Given the description of an element on the screen output the (x, y) to click on. 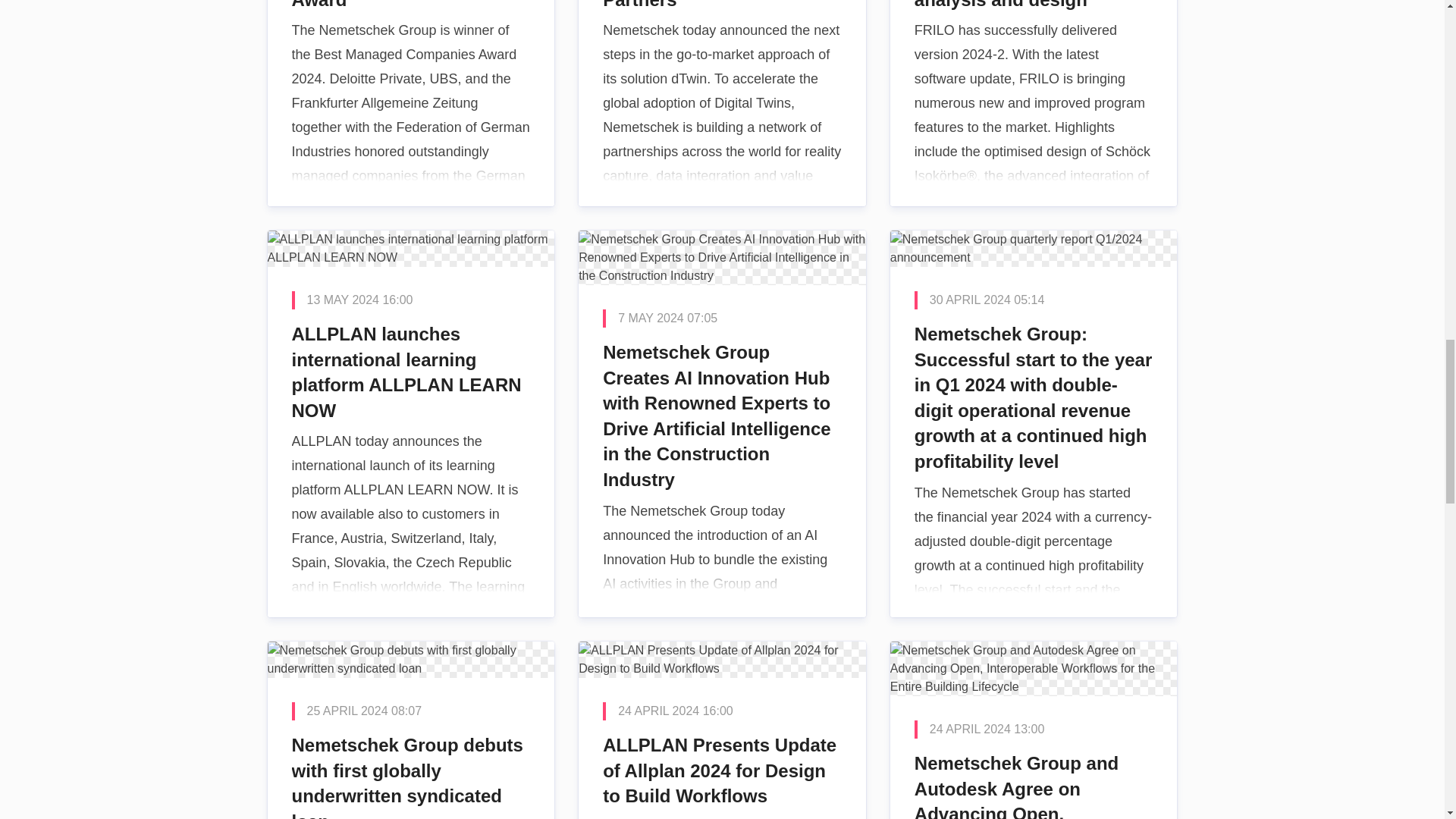
Nemetschek Group Honored with Best Managed Companies Award (410, 103)
